Given the description of an element on the screen output the (x, y) to click on. 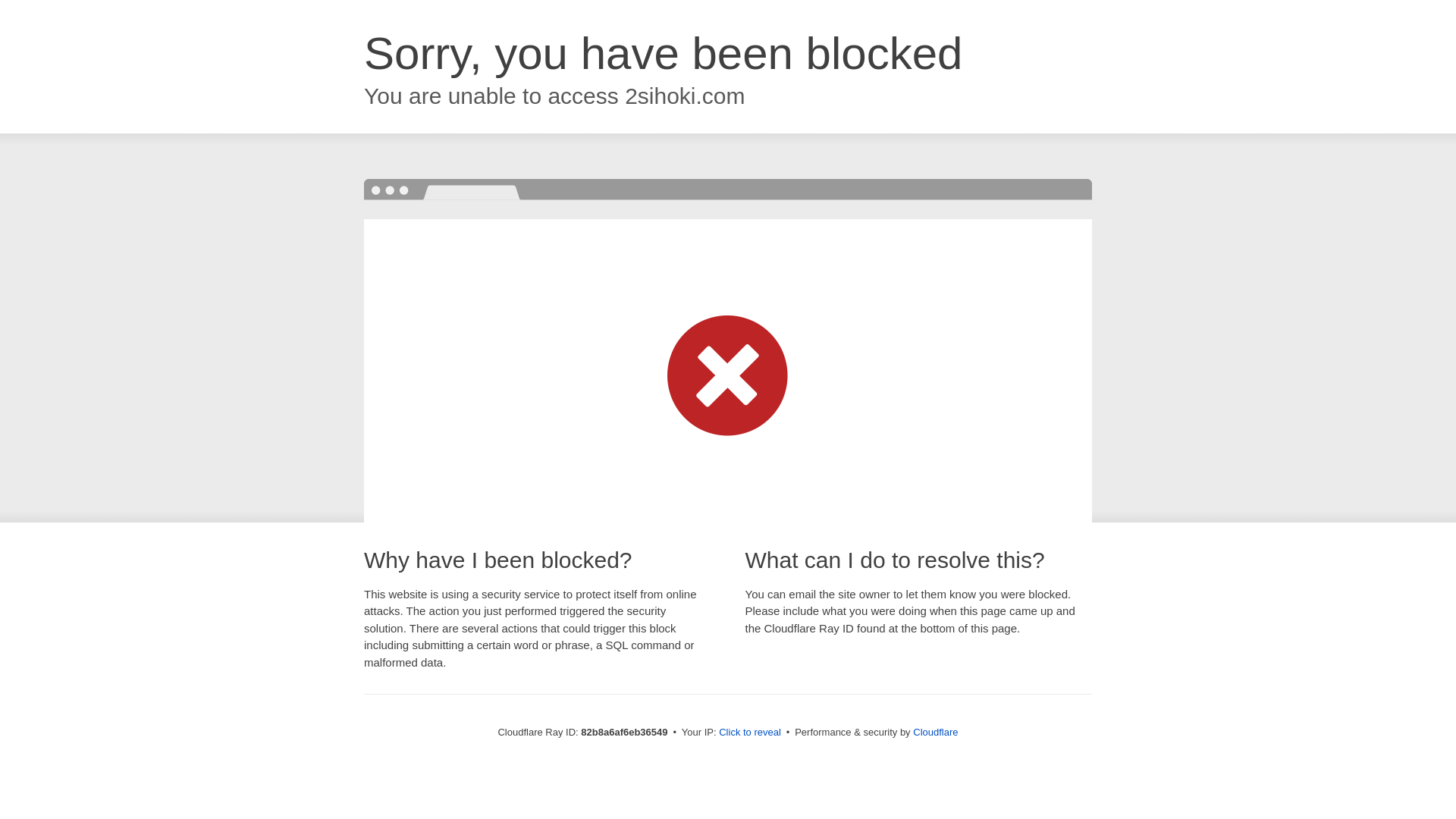
Click to reveal Element type: text (749, 732)
Cloudflare Element type: text (935, 731)
